Given the description of an element on the screen output the (x, y) to click on. 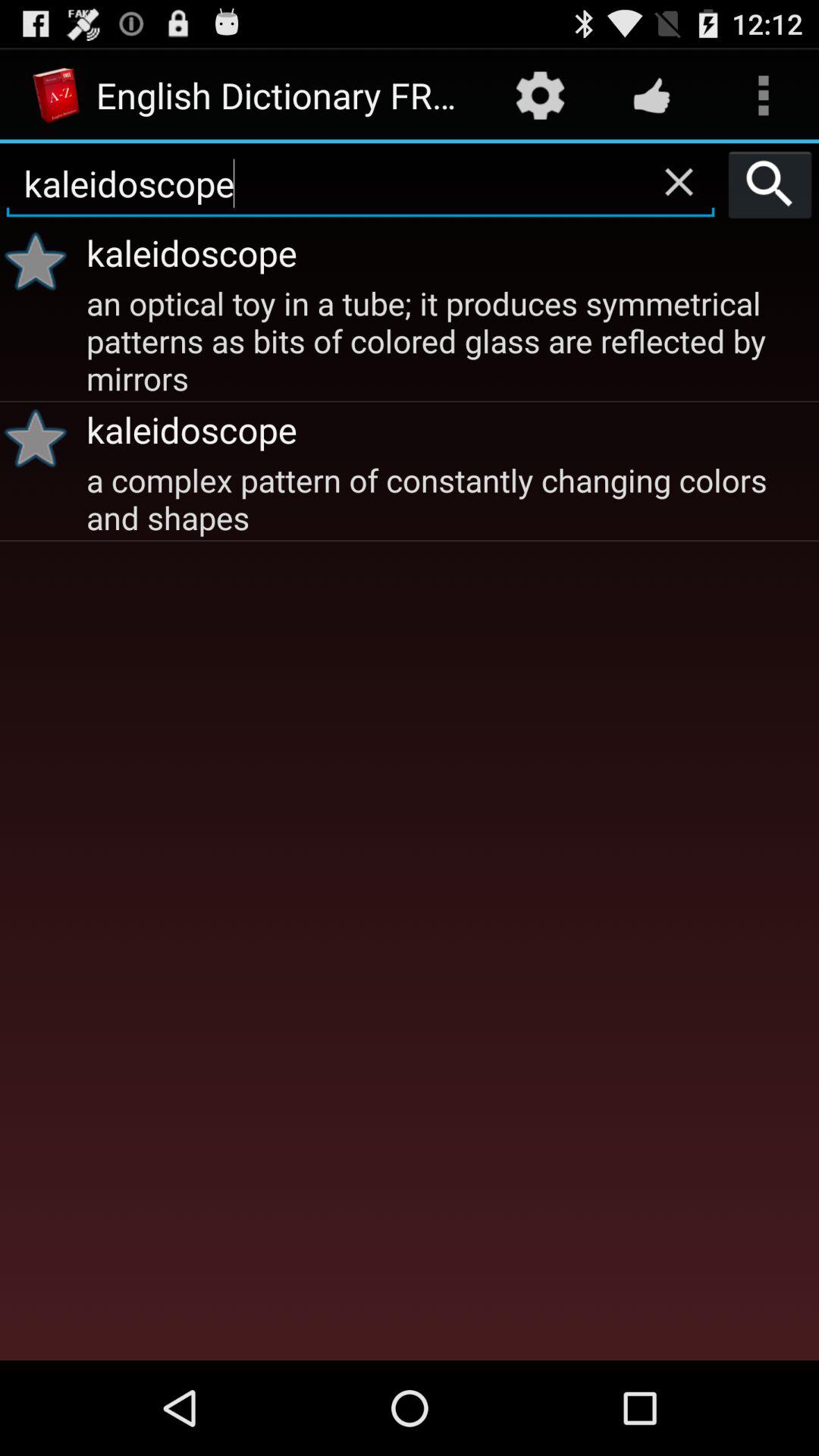
launch icon below the kaleidoscope app (451, 497)
